Given the description of an element on the screen output the (x, y) to click on. 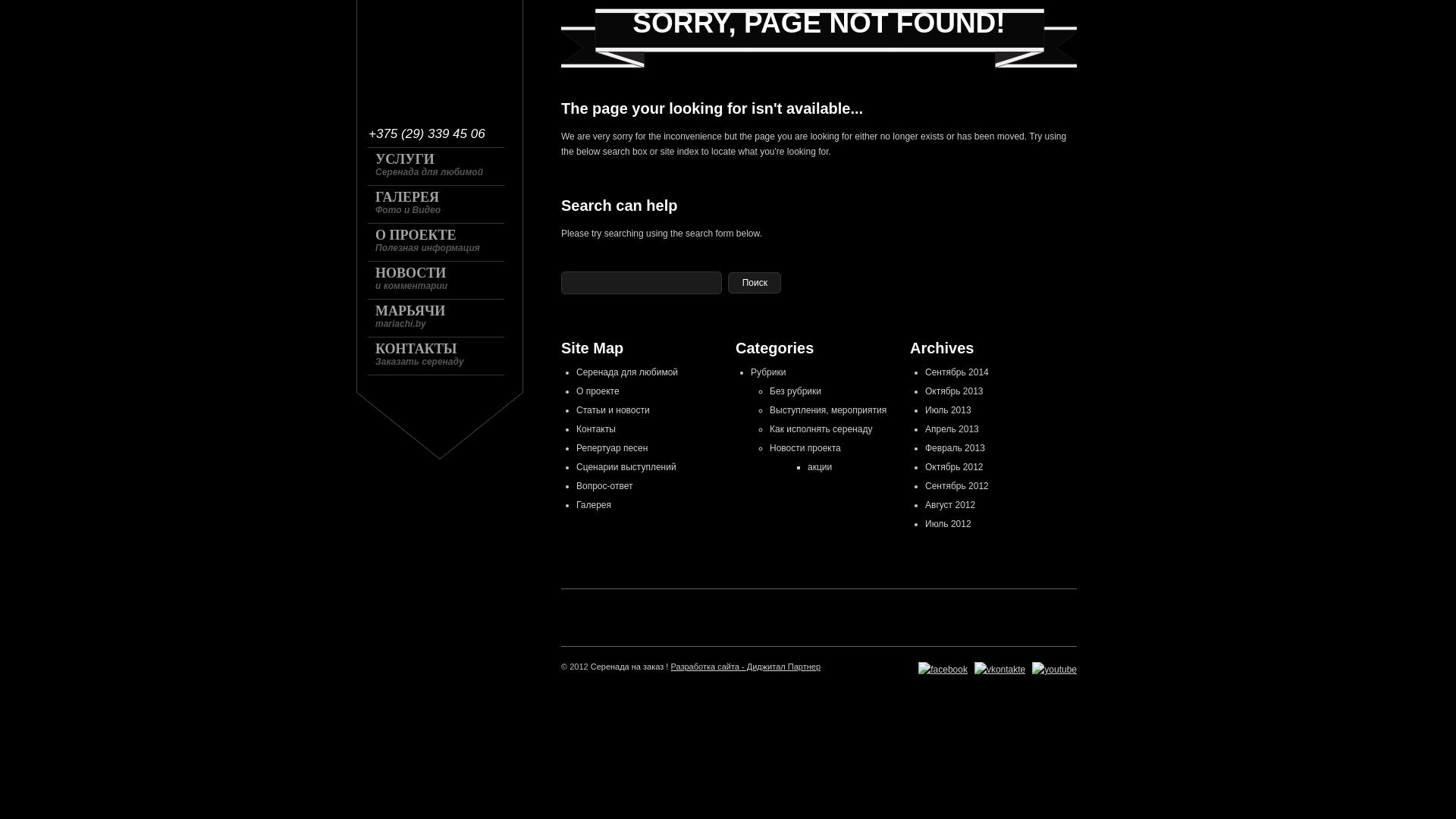
YouTube Element type: hover (1054, 669)
Facebook Element type: hover (942, 669)
